Given the description of an element on the screen output the (x, y) to click on. 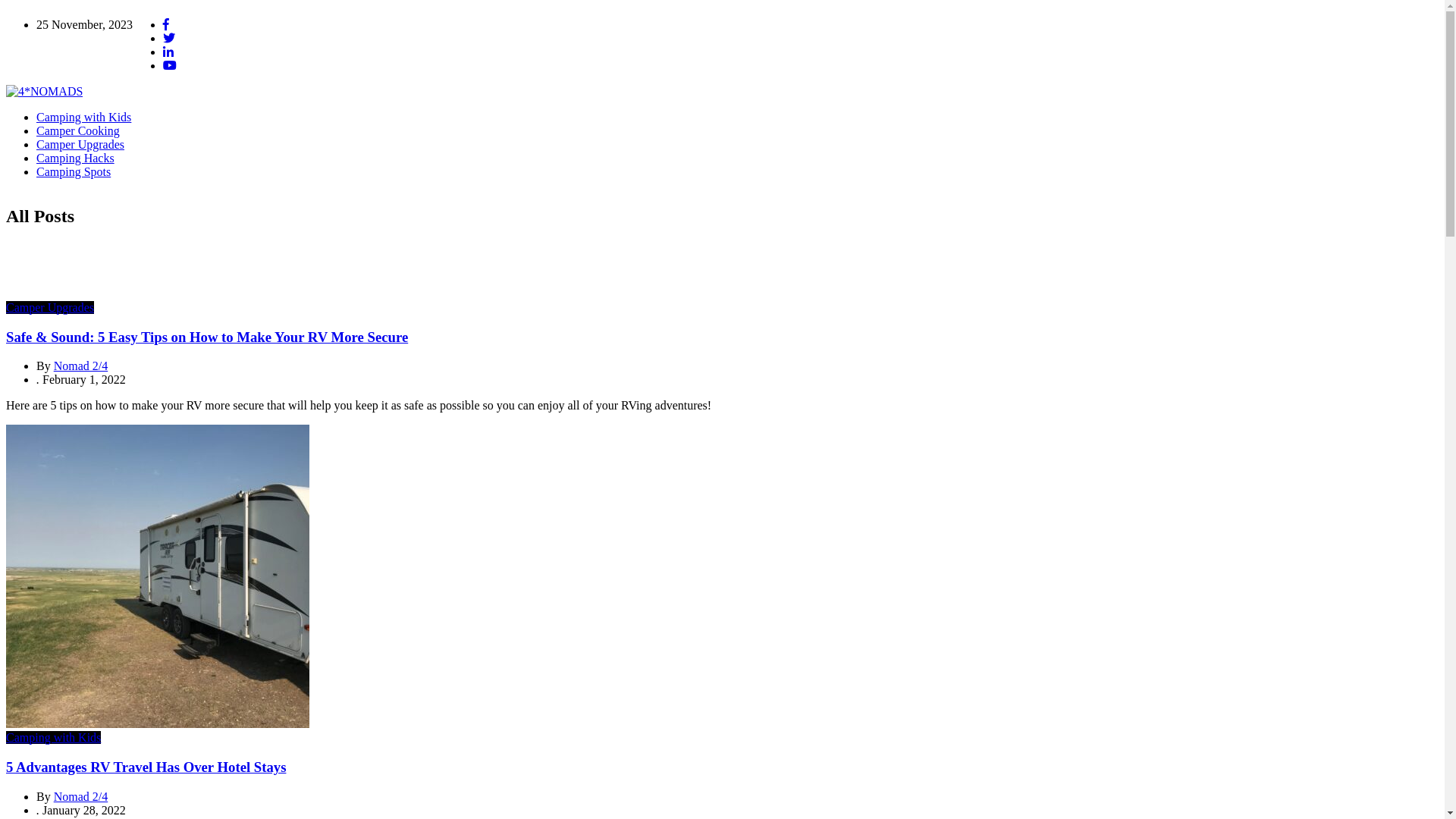
Camping Spots Element type: text (73, 171)
Camper Cooking Element type: text (77, 130)
Nomad 2/4 Element type: text (80, 796)
5 Advantages RV Travel Has Over Hotel Stays Element type: text (145, 767)
Safe & Sound: 5 Easy Tips on How to Make Your RV More Secure Element type: text (206, 337)
Camper Upgrades Element type: text (80, 144)
Camper Upgrades Element type: text (50, 307)
Camping with Kids Element type: text (83, 116)
Camping with Kids Element type: text (53, 737)
Nomad 2/4 Element type: text (80, 365)
Camping Hacks Element type: text (75, 157)
